Given the description of an element on the screen output the (x, y) to click on. 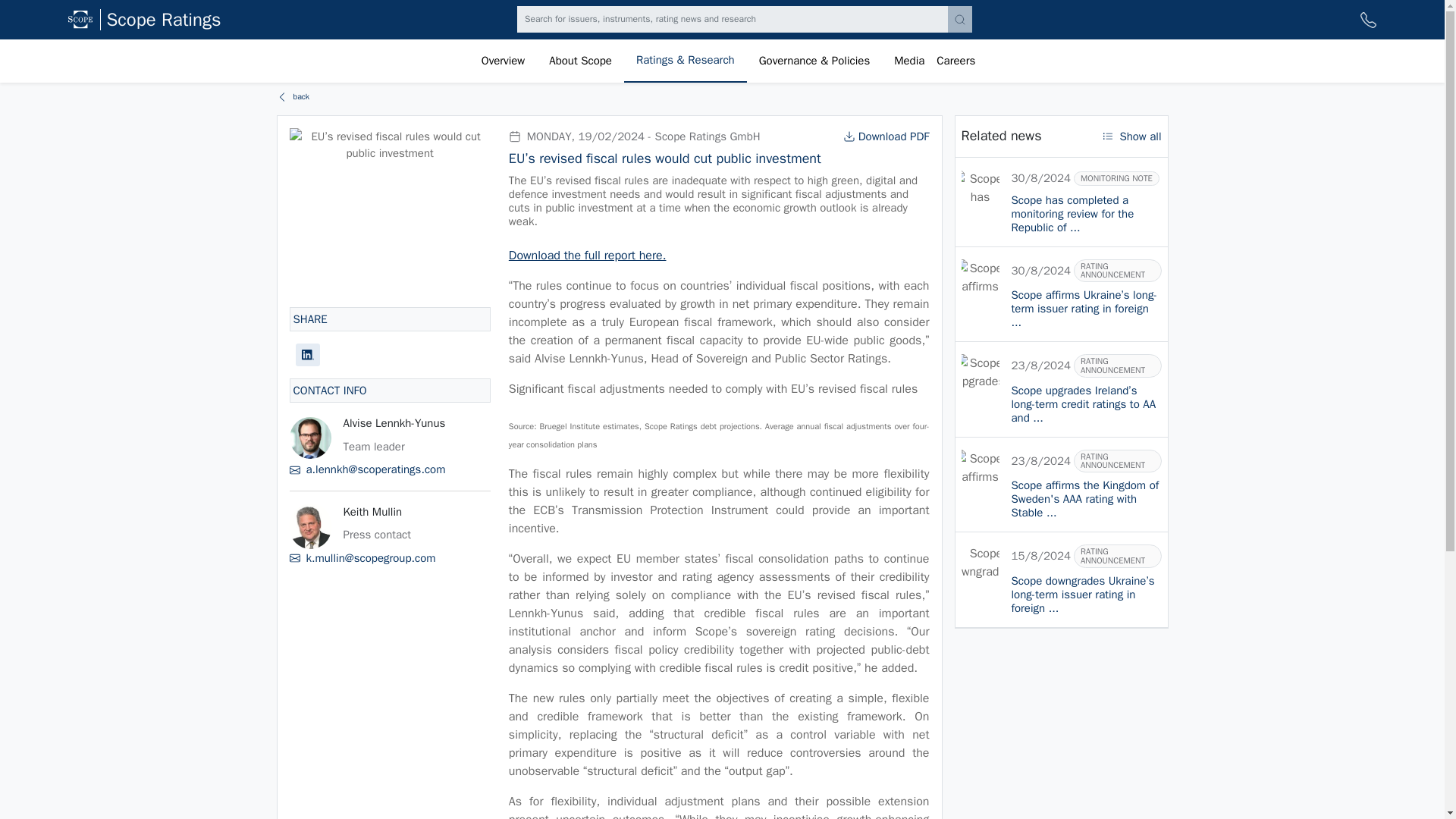
About Scope (580, 60)
Send Email to Team Leader (389, 469)
Media (909, 60)
Careers (955, 60)
Scope Ratings (163, 19)
Overview (502, 60)
Show all related news (1131, 136)
back (292, 96)
Send Email to Press contact (389, 558)
Media Scope Group (909, 60)
